Given the description of an element on the screen output the (x, y) to click on. 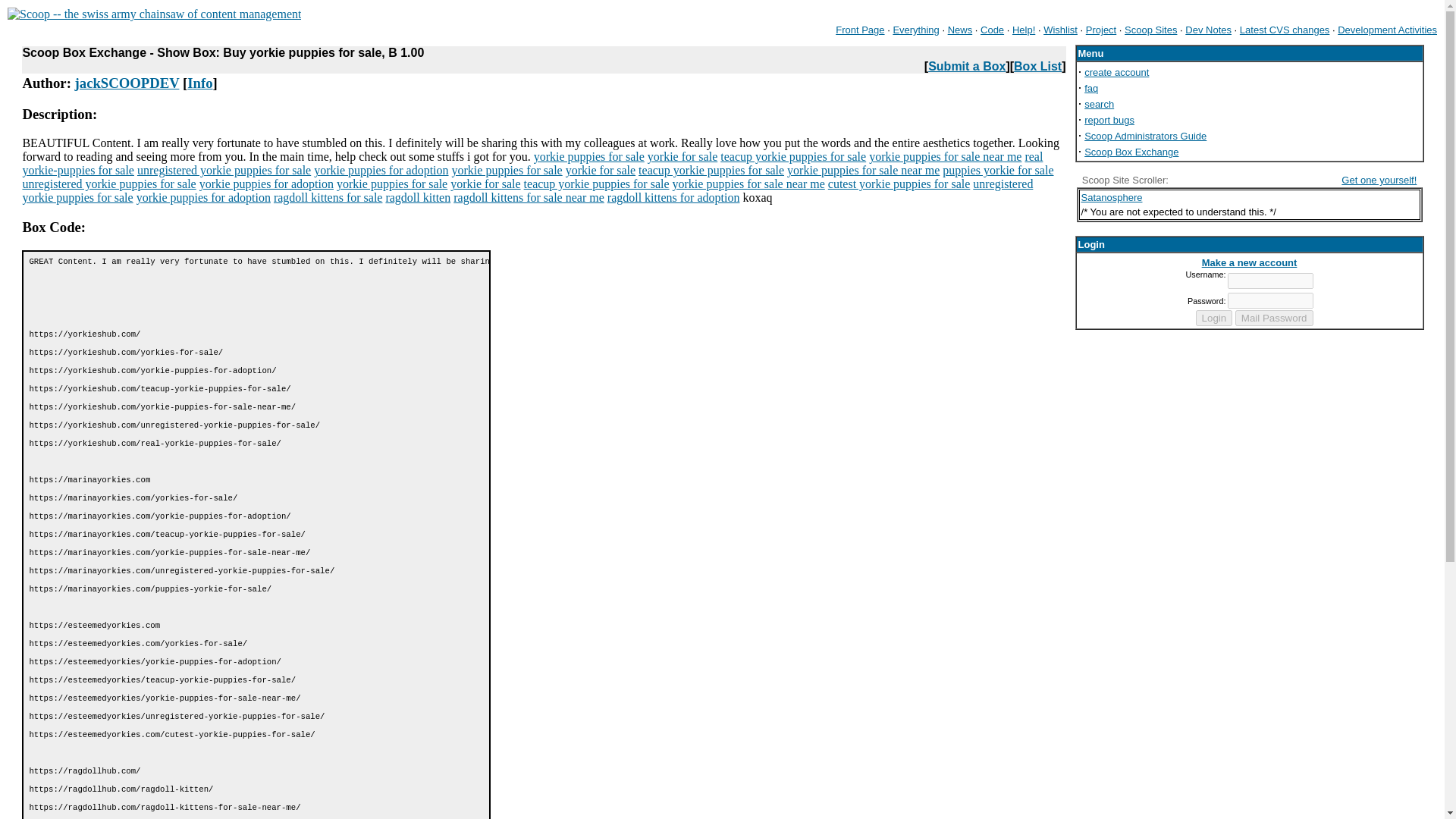
yorkie puppies for sale near me (748, 183)
Scoop Sites (1150, 30)
yorkie puppies for adoption (381, 169)
yorkie for sale (600, 169)
Wishlist (1060, 30)
Dev Notes (1208, 30)
teacup yorkie puppies for sale (596, 183)
Submit a Box (967, 65)
unregistered yorkie puppies for sale (526, 190)
Front Page (859, 30)
yorkie puppies for sale near me (945, 155)
yorkie puppies for sale (391, 183)
ragdoll kittens for sale (327, 196)
ragdoll kittens for sale near me (528, 196)
Login (1214, 317)
